Given the description of an element on the screen output the (x, y) to click on. 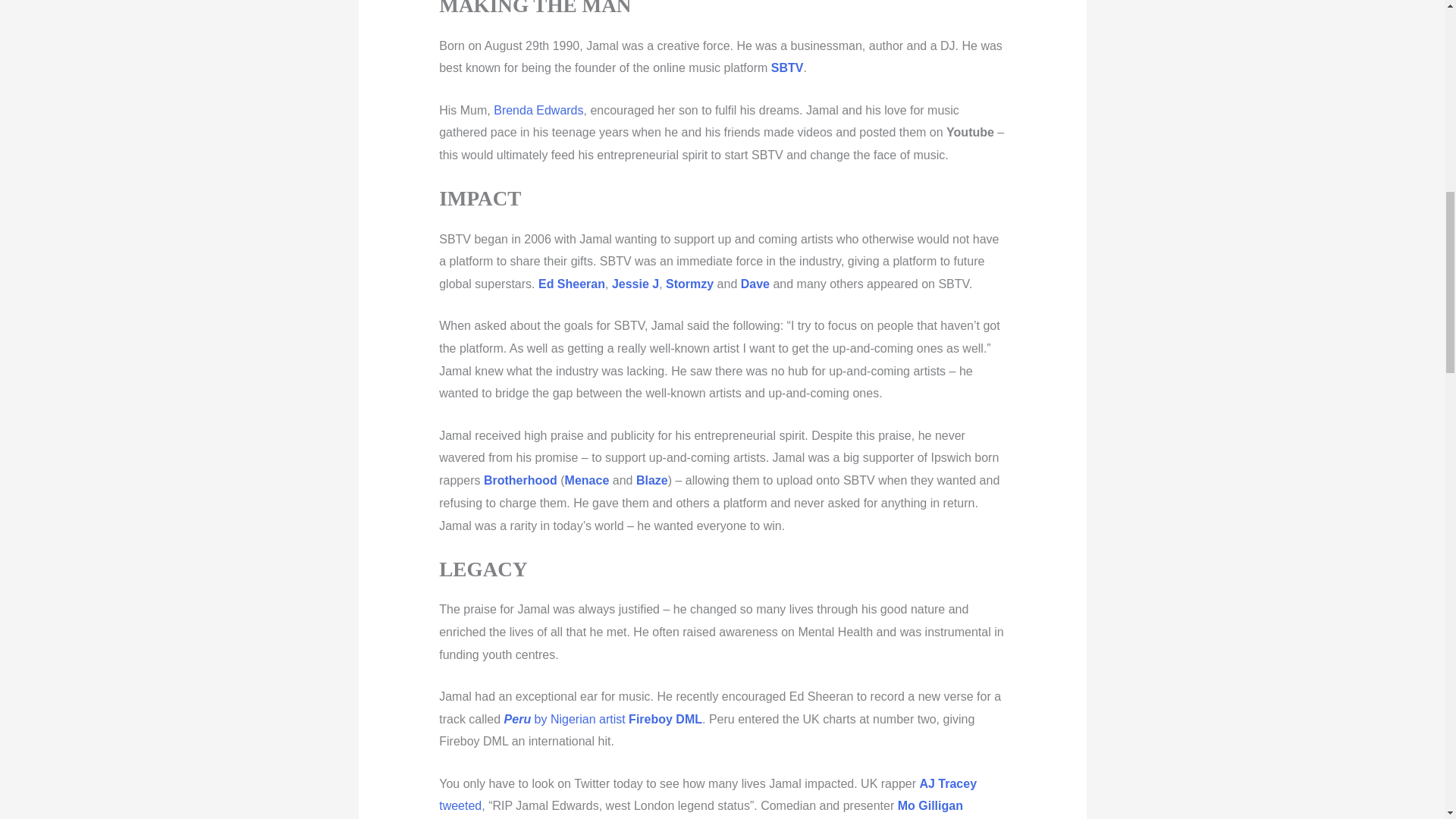
SBTV (787, 67)
Ed Sheeran (571, 283)
Brenda Edwards (538, 110)
